Given the description of an element on the screen output the (x, y) to click on. 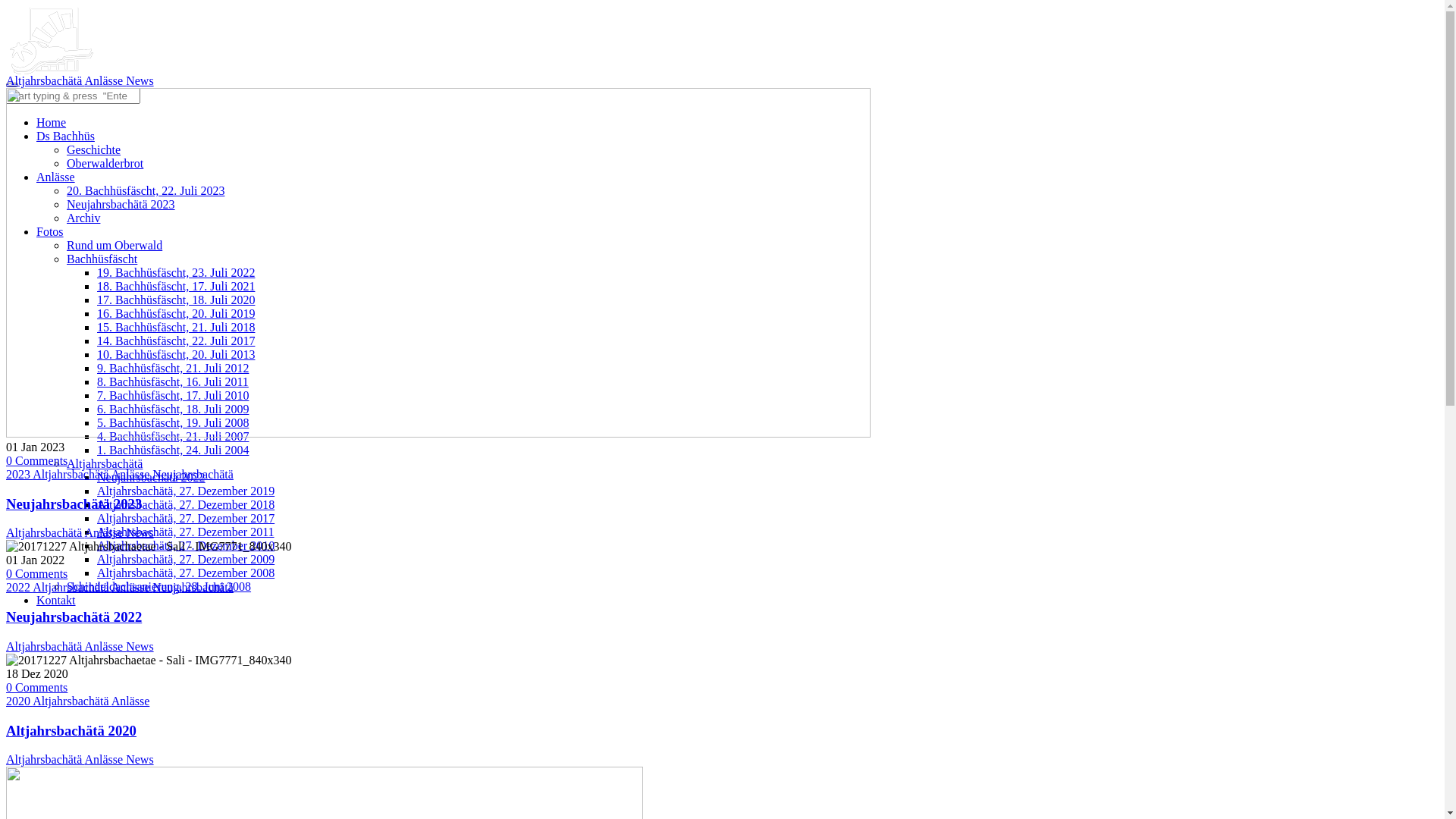
Home Element type: text (50, 122)
0 Comments Element type: text (36, 686)
News Element type: text (139, 646)
News Element type: text (139, 759)
News Element type: text (139, 80)
Fotos Element type: text (49, 231)
Schindeldachsanierung, 28. Juni 2008 Element type: text (158, 586)
Oberwalderbrot Element type: text (104, 162)
Kontakt Element type: text (55, 599)
2020 Element type: text (19, 700)
0 Comments Element type: text (36, 460)
Rund um Oberwald Element type: text (114, 244)
2022 Element type: text (19, 586)
0 Comments Element type: text (36, 573)
Archiv Element type: text (83, 217)
News Element type: text (139, 532)
2023 Element type: text (19, 473)
Geschichte Element type: text (93, 149)
